Given the description of an element on the screen output the (x, y) to click on. 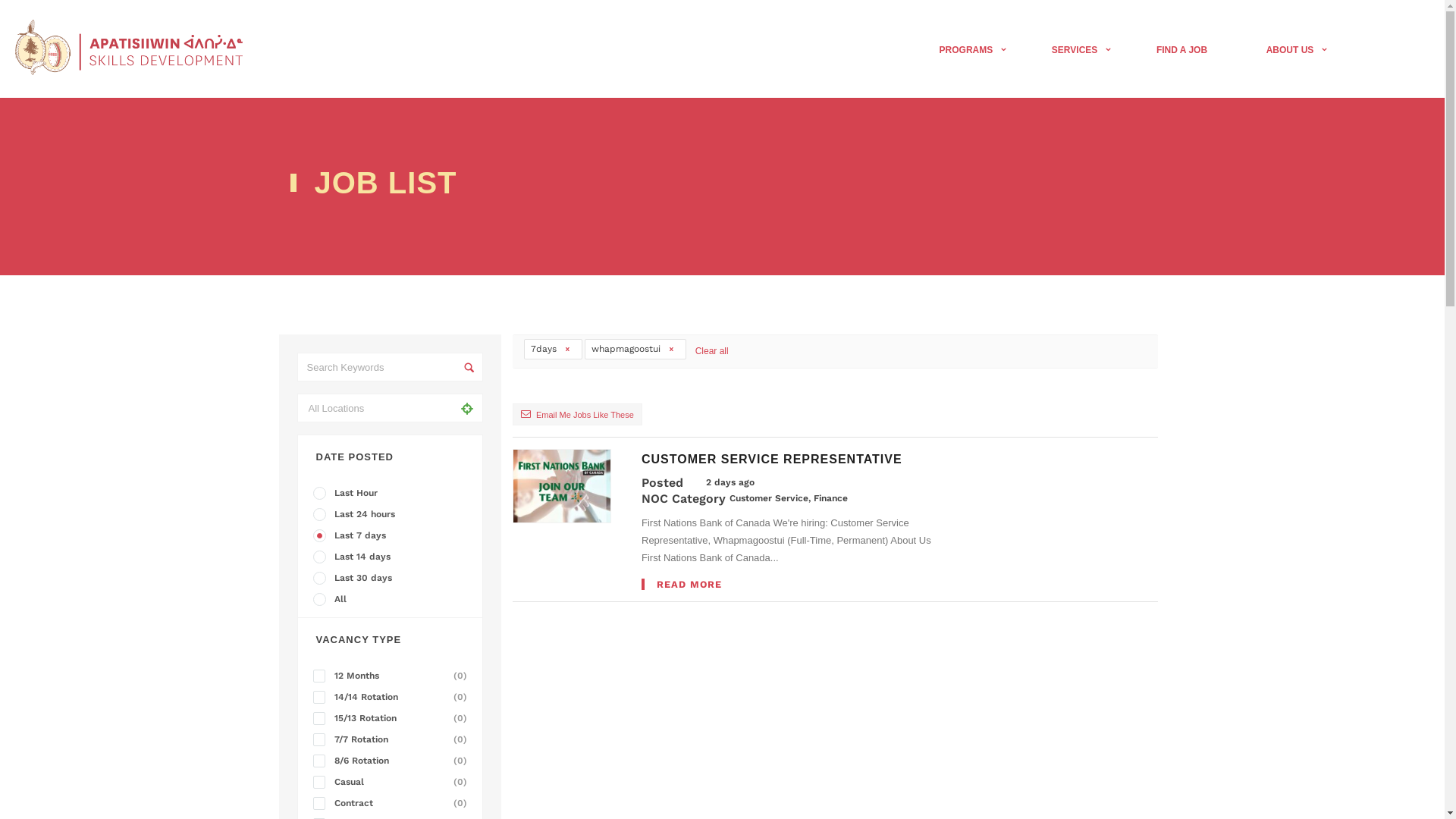
whapmagoostui Element type: text (635, 348)
7/7 Rotation
(0) Element type: text (392, 738)
READ MORE Element type: text (791, 583)
All Element type: text (392, 598)
Email Me Jobs Like These Element type: text (577, 414)
Casual
(0) Element type: text (392, 781)
Last Hour Element type: text (392, 492)
PROGRAMS Element type: text (971, 50)
Last 30 days Element type: text (392, 577)
15/13 Rotation
(0) Element type: text (392, 717)
14/14 Rotation
(0) Element type: text (392, 696)
Contract
(0) Element type: text (392, 802)
Clear all Element type: text (711, 351)
CUSTOMER SERVICE REPRESENTATIVE Element type: text (771, 458)
accounting Element type: text (4, 4)
FIND A JOB Element type: text (1181, 50)
8/6 Rotation
(0) Element type: text (392, 760)
Last 7 days Element type: text (392, 535)
12 Months
(0) Element type: text (392, 675)
SERVICES Element type: text (1074, 50)
Last 24 hours Element type: text (392, 513)
ABOUT US Element type: text (1290, 50)
7days Element type: text (553, 348)
Last 14 days Element type: text (392, 556)
